Given the description of an element on the screen output the (x, y) to click on. 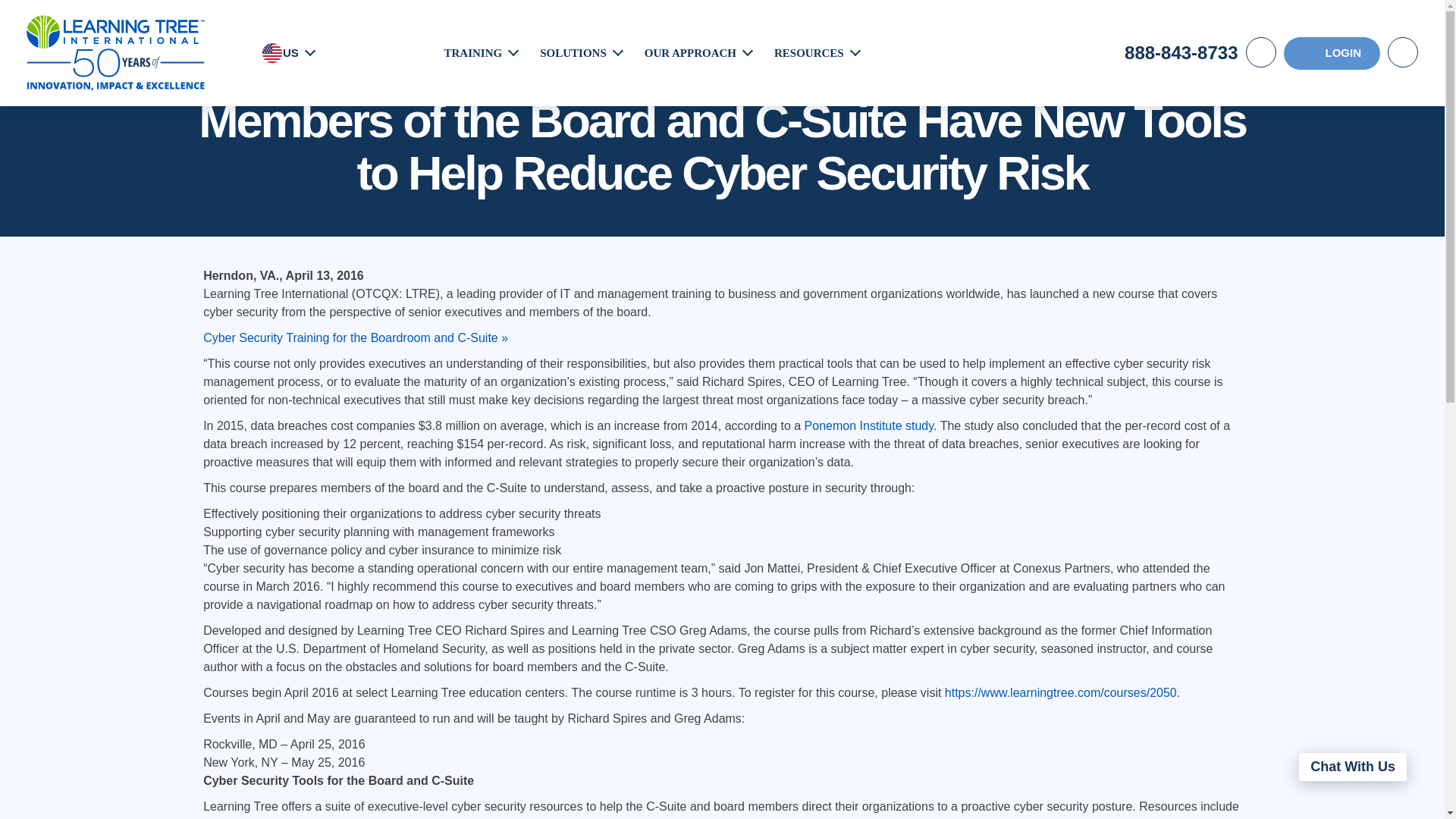
TRAINING (473, 52)
